Given the description of an element on the screen output the (x, y) to click on. 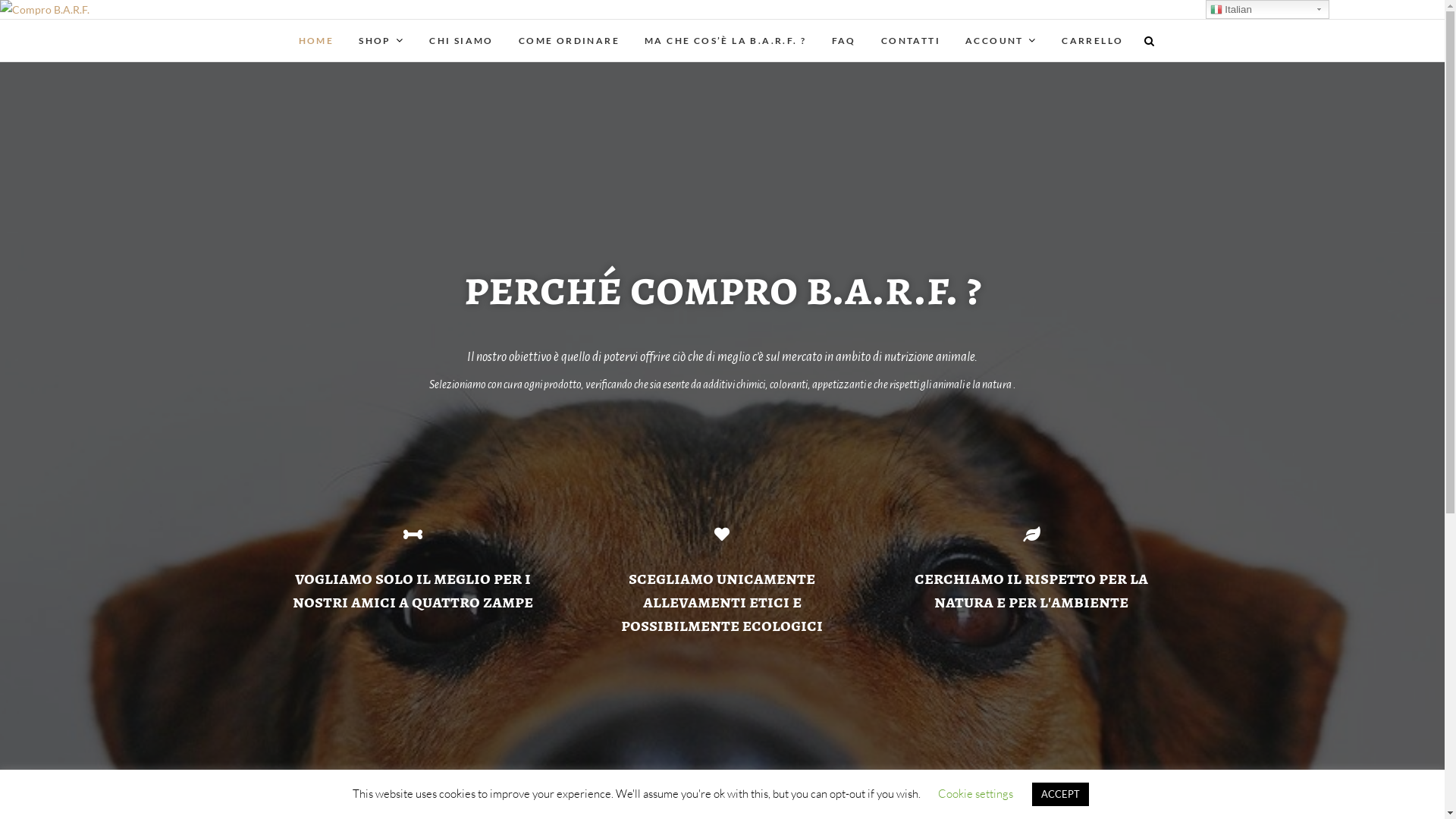
ACCEPT Element type: text (1059, 794)
CHI SIAMO Element type: text (461, 40)
CONTATTI Element type: text (910, 40)
ACCOUNT Element type: text (1000, 40)
COME ORDINARE Element type: text (568, 40)
Italian Element type: text (1267, 9)
HOME Element type: text (316, 40)
SHOP Element type: text (381, 40)
FAQ Element type: text (843, 40)
CARRELLO Element type: text (1092, 40)
Cookie settings Element type: text (974, 793)
